Given the description of an element on the screen output the (x, y) to click on. 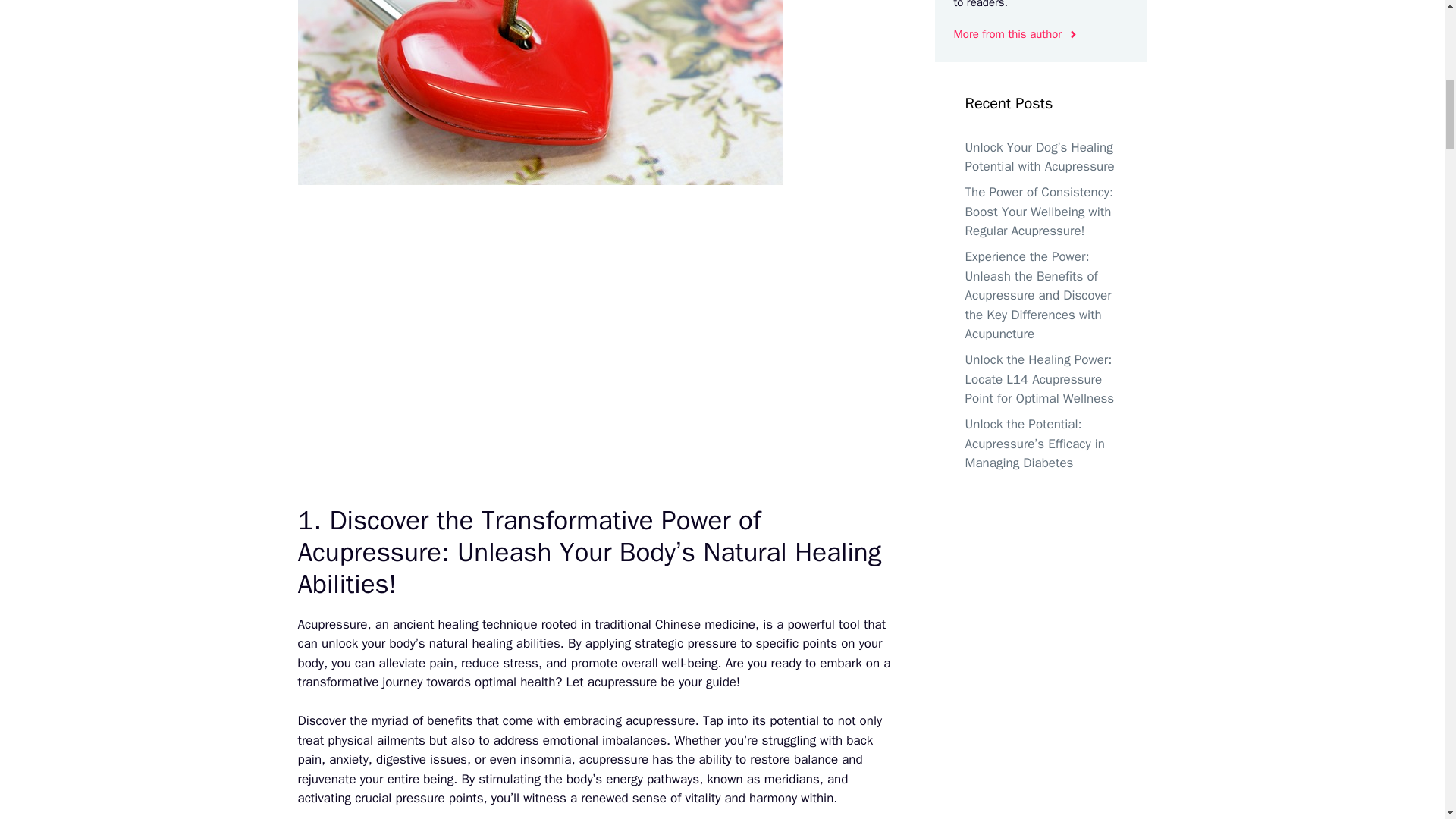
Scroll back to top (1406, 720)
More from this author (1015, 34)
